Given the description of an element on the screen output the (x, y) to click on. 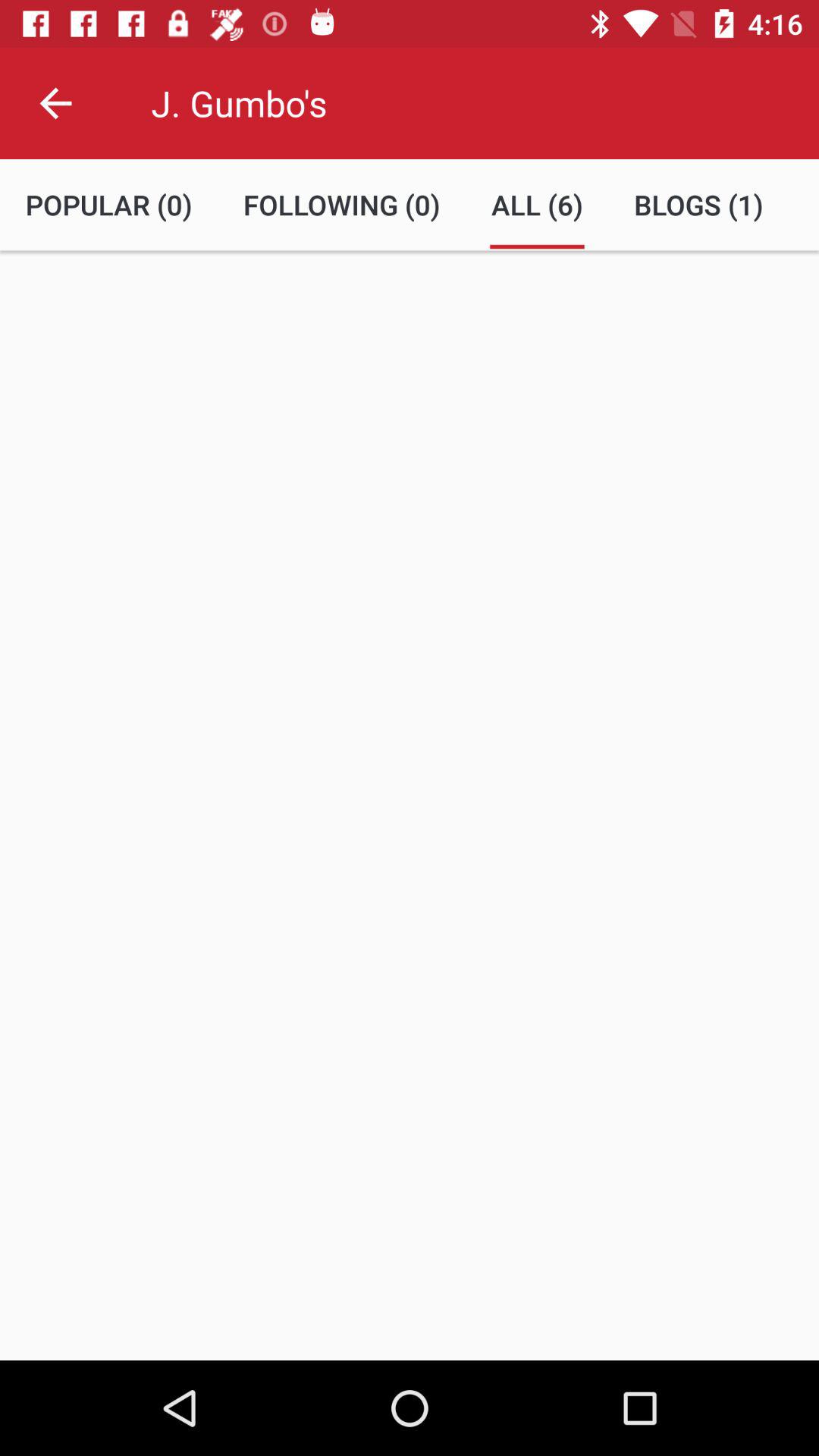
launch the following (0) (341, 204)
